Given the description of an element on the screen output the (x, y) to click on. 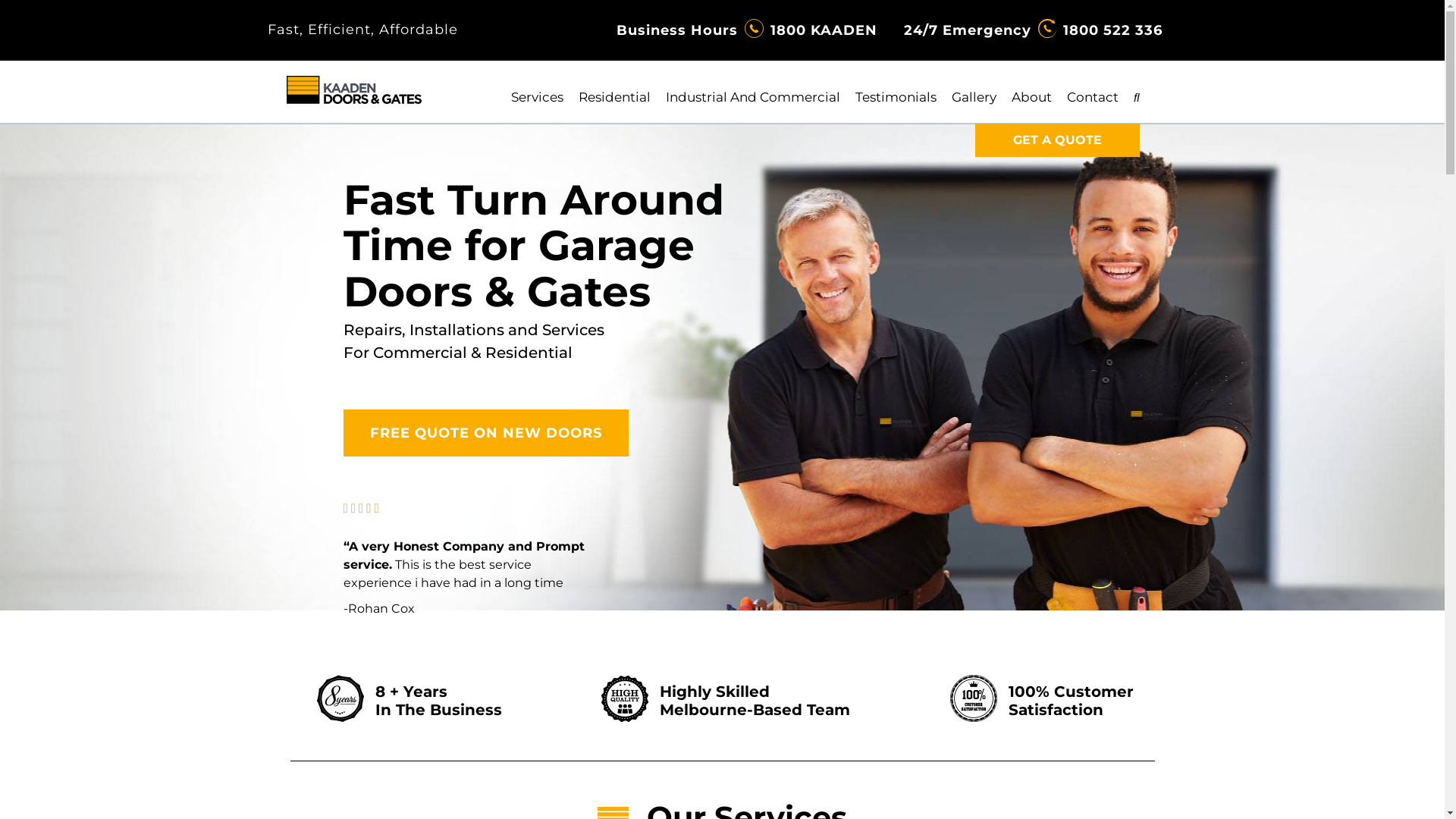
1800 KAADEN Element type: text (823, 29)
Industrial And Commercial Element type: text (752, 97)
GET A QUOTE Element type: text (1057, 139)
Gallery Element type: text (974, 97)
Services Element type: text (537, 97)
Testimonials Element type: text (895, 97)
1800 522 336 Element type: text (1112, 29)
FREE QUOTE ON NEW DOORS Element type: text (484, 432)
Contact Element type: text (1092, 97)
Residential Element type: text (614, 97)
About Element type: text (1031, 97)
Kaaden Doors Element type: text (353, 89)
